Given the description of an element on the screen output the (x, y) to click on. 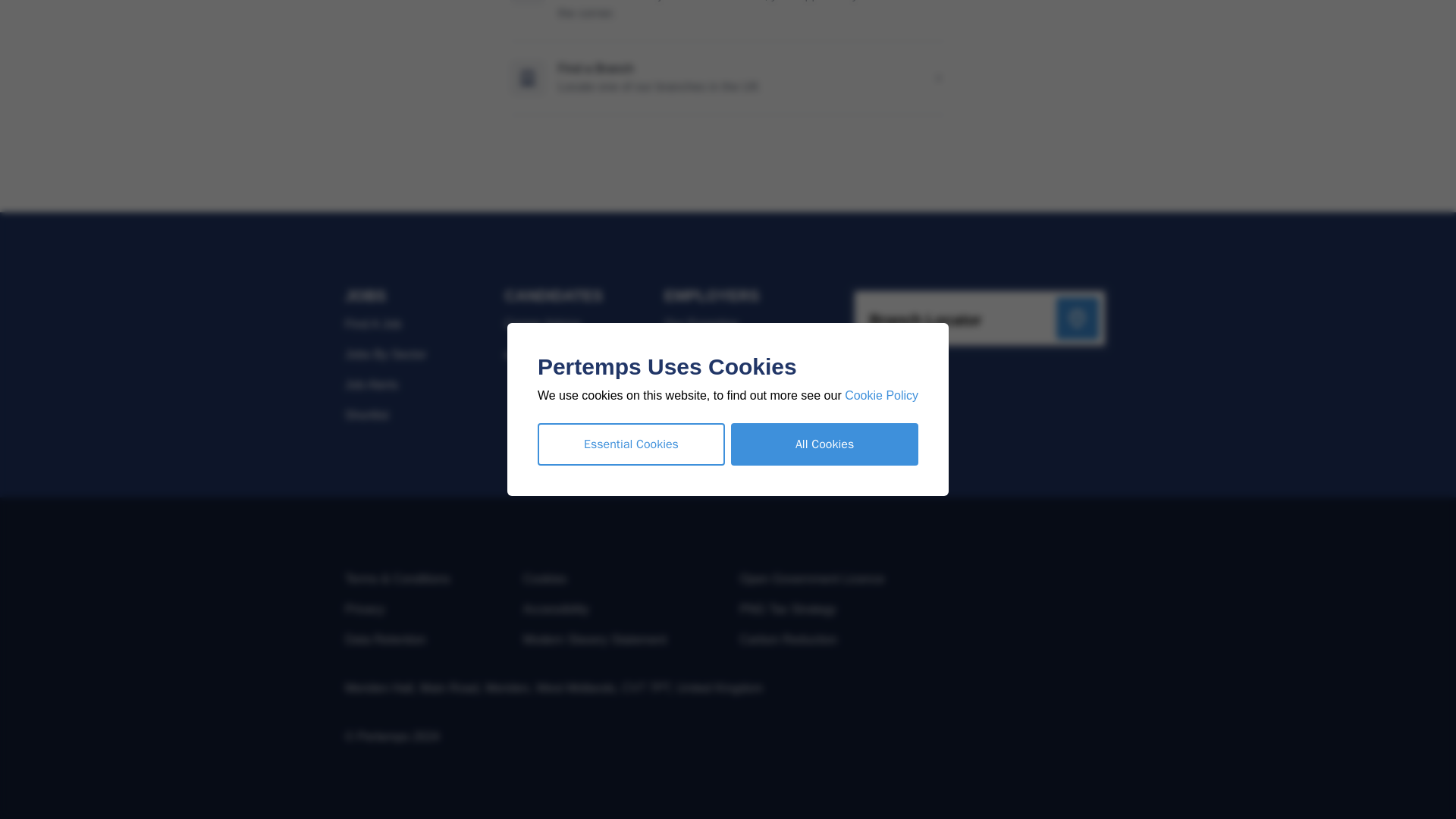
Essential Cookies (631, 30)
All Cookies (824, 30)
